Given the description of an element on the screen output the (x, y) to click on. 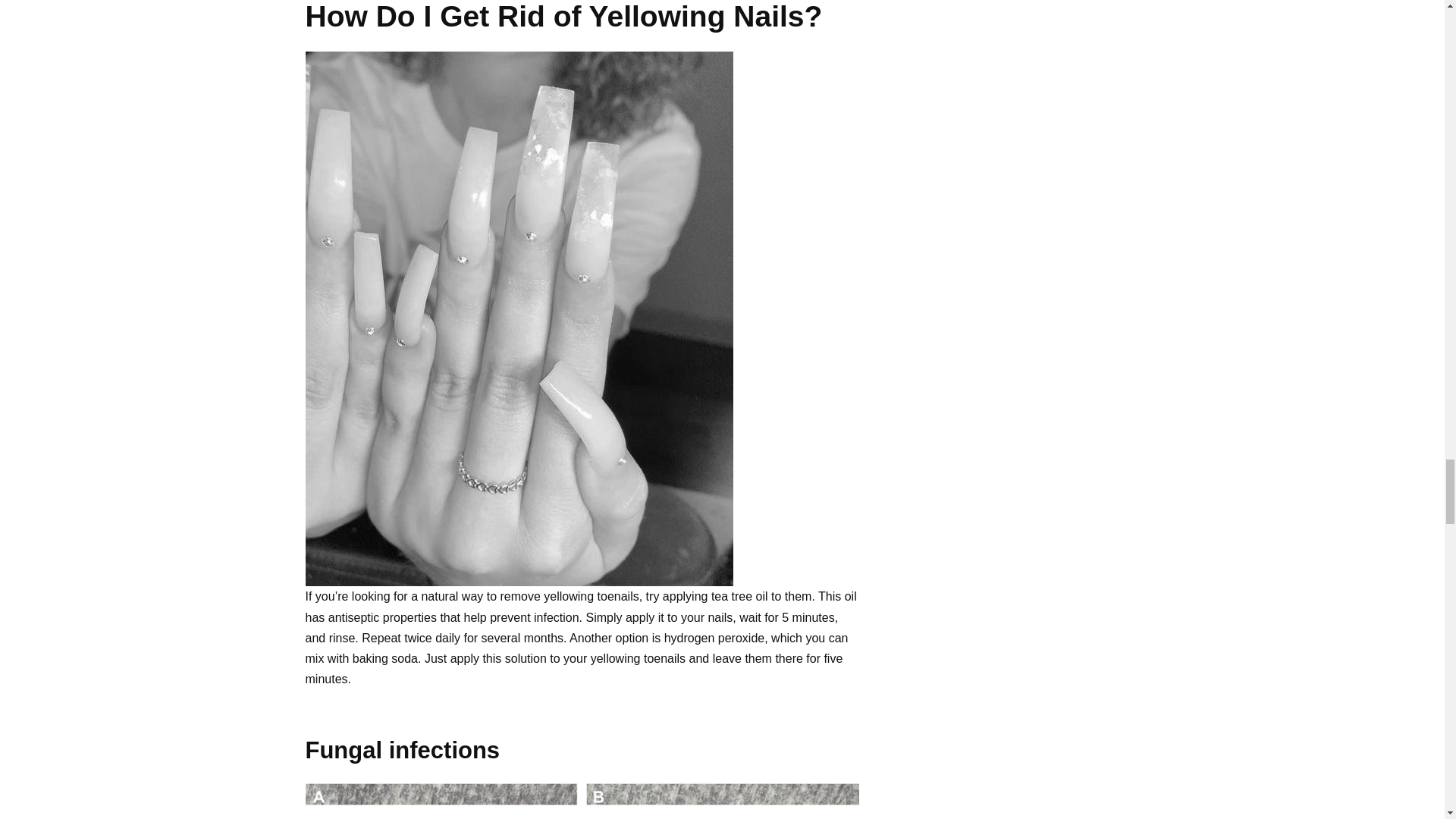
Photo How do I get longer nails? 8 (581, 800)
